Given the description of an element on the screen output the (x, y) to click on. 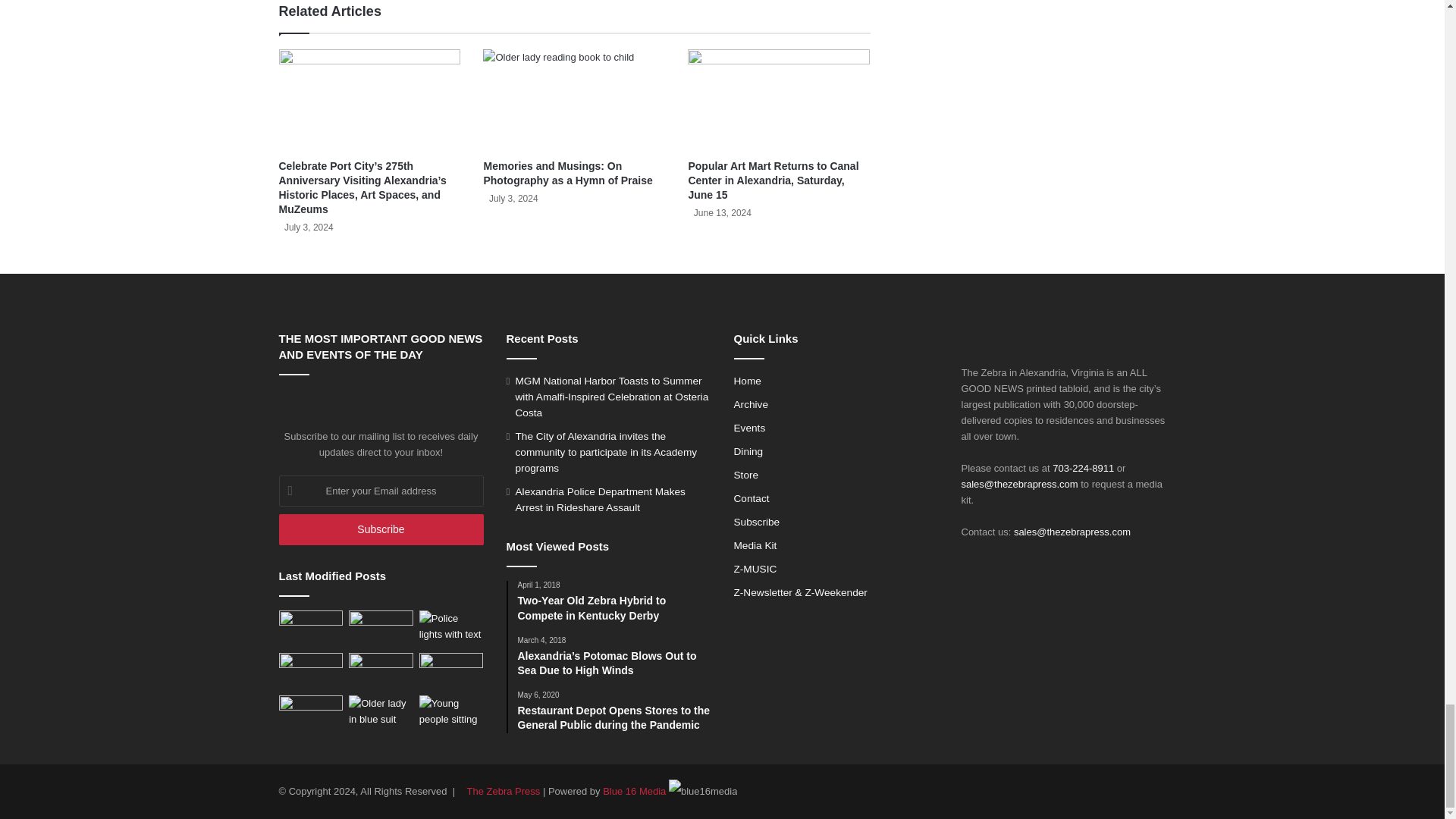
Subscribe (381, 529)
